Given the description of an element on the screen output the (x, y) to click on. 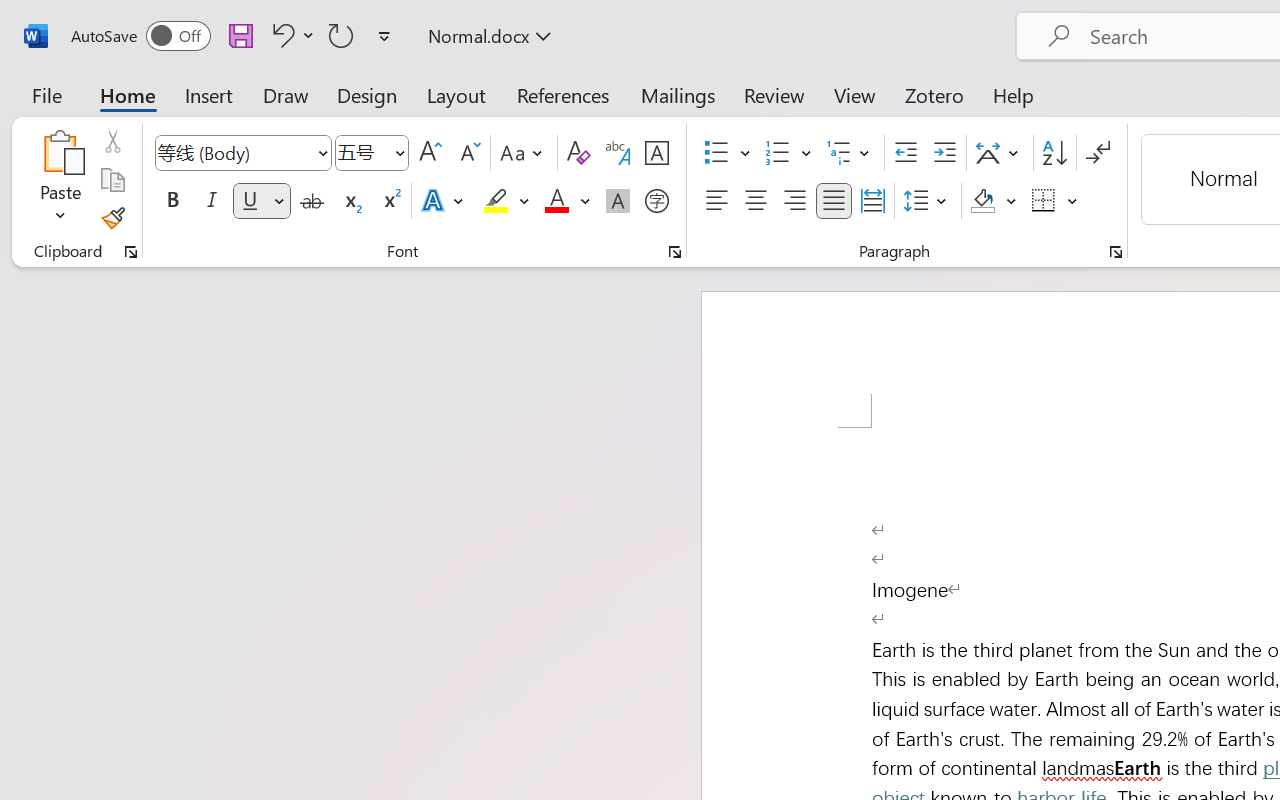
Text Effects and Typography (444, 201)
Shading (993, 201)
Sort... (1054, 153)
Center (756, 201)
Asian Layout (1000, 153)
Subscript (350, 201)
